Given the description of an element on the screen output the (x, y) to click on. 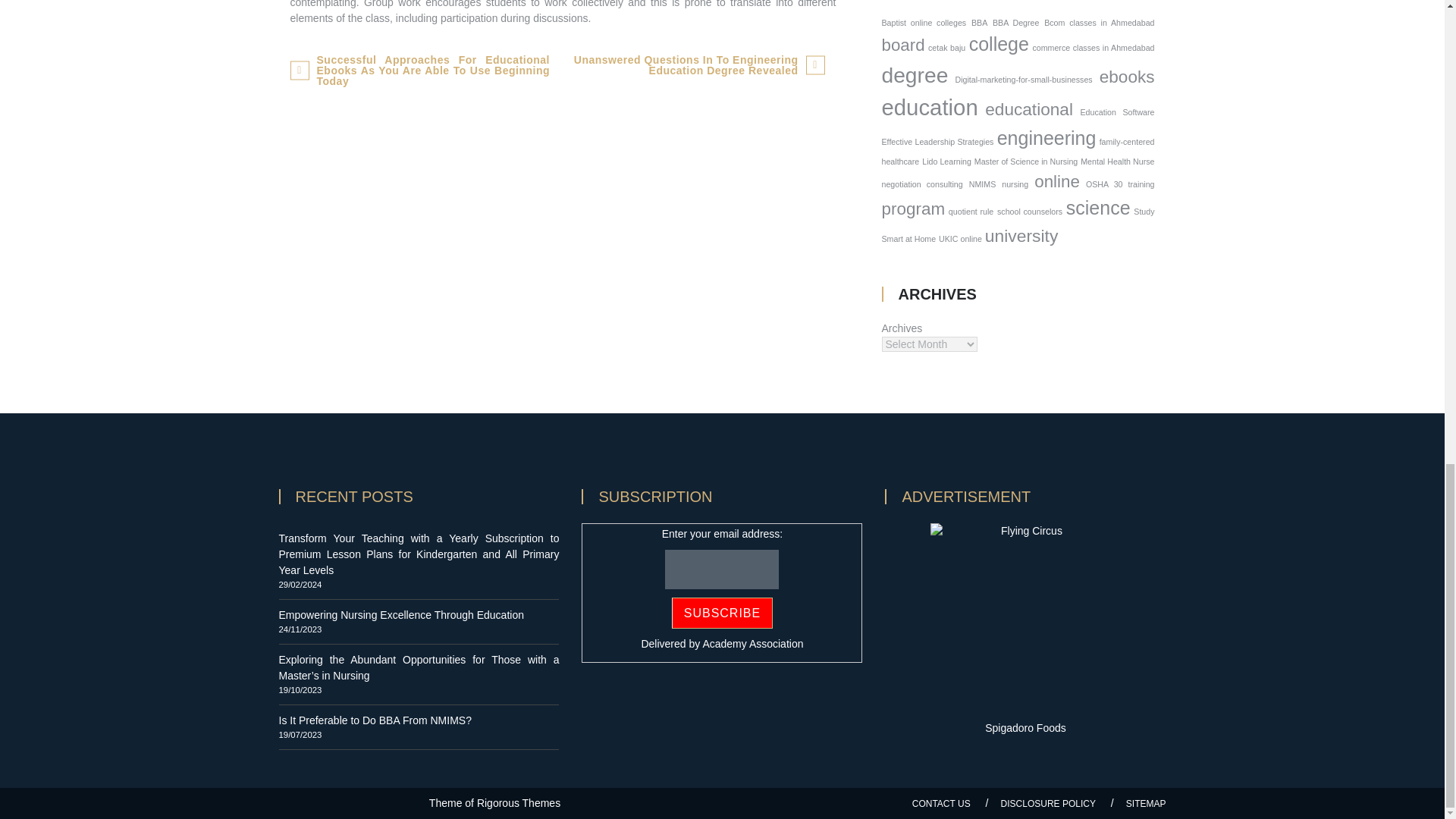
commerce classes in Ahmedabad (1093, 47)
college (999, 43)
Bcom classes in Ahmedabad (1098, 22)
Flying Circus (1024, 617)
Digital-marketing-for-small-businesses (1023, 79)
degree (913, 74)
cetak baju (946, 47)
BBA Degree (1015, 22)
BBA (979, 22)
